Given the description of an element on the screen output the (x, y) to click on. 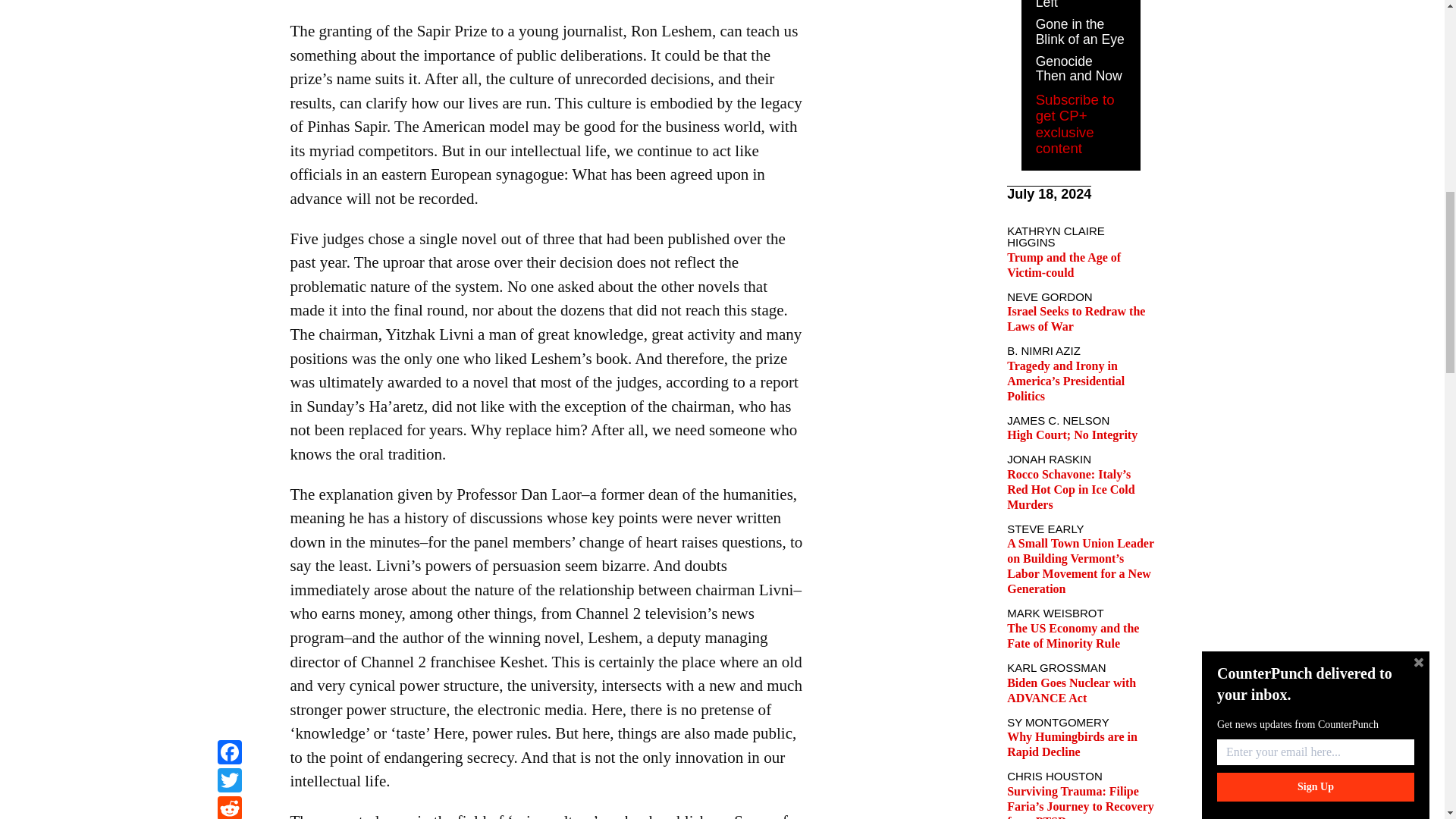
The Molting of the Dirtbag Left (1077, 4)
Reddit (229, 2)
Email (229, 18)
Email (229, 18)
Israel Seeks to Redraw the Laws of War (1075, 318)
Trump and the Age of Victim-could (1064, 264)
Genocide Then and Now (1078, 69)
Reddit (229, 2)
Gone in the Blink of an Eye (1079, 31)
